Given the description of an element on the screen output the (x, y) to click on. 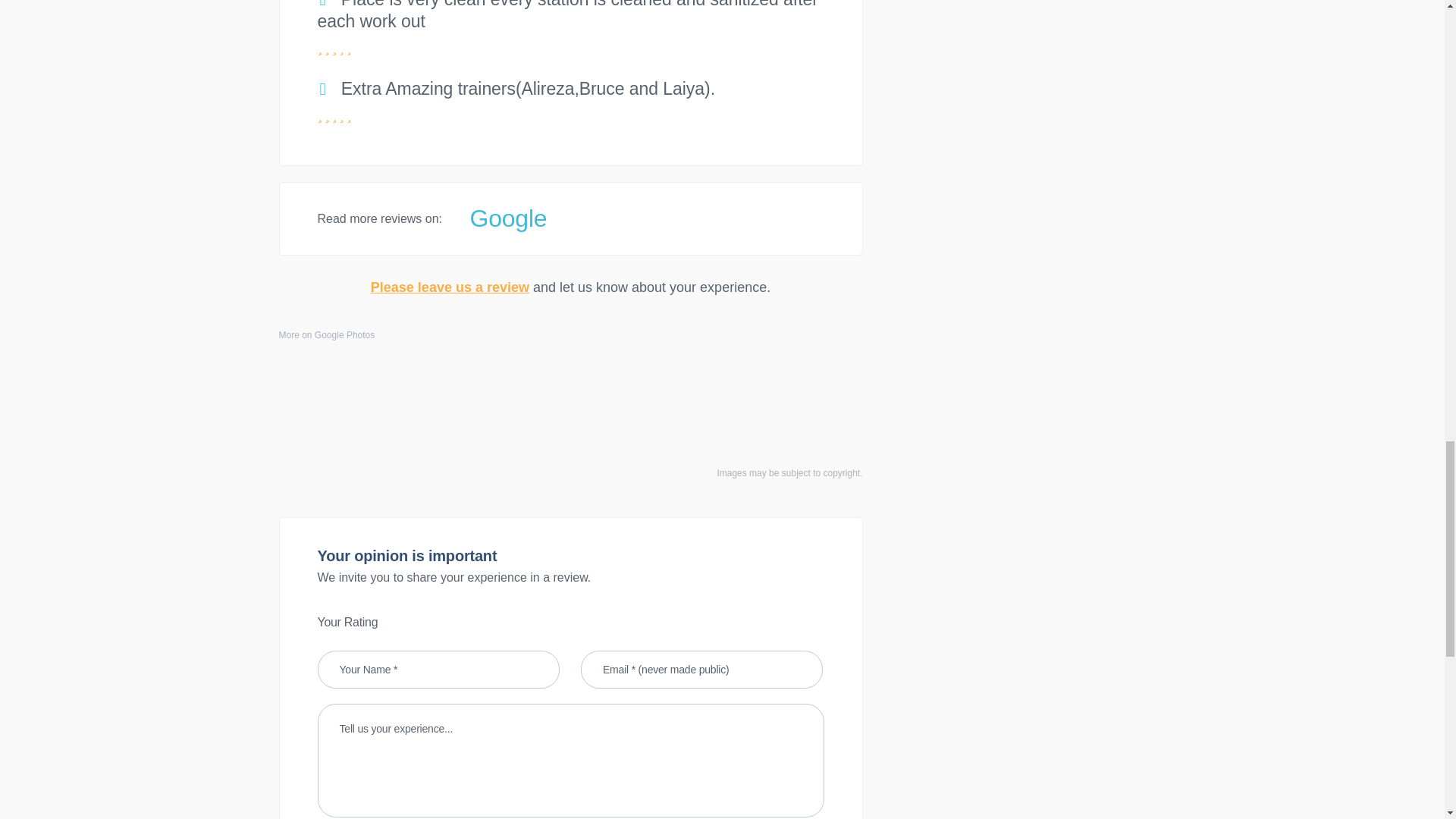
Bad - 2 stars (407, 622)
Very good - 4 stars (437, 622)
Excellent - 5 stars (453, 622)
Good - 3 stars (422, 622)
Google (507, 218)
Really bad - 1 star (392, 622)
